Given the description of an element on the screen output the (x, y) to click on. 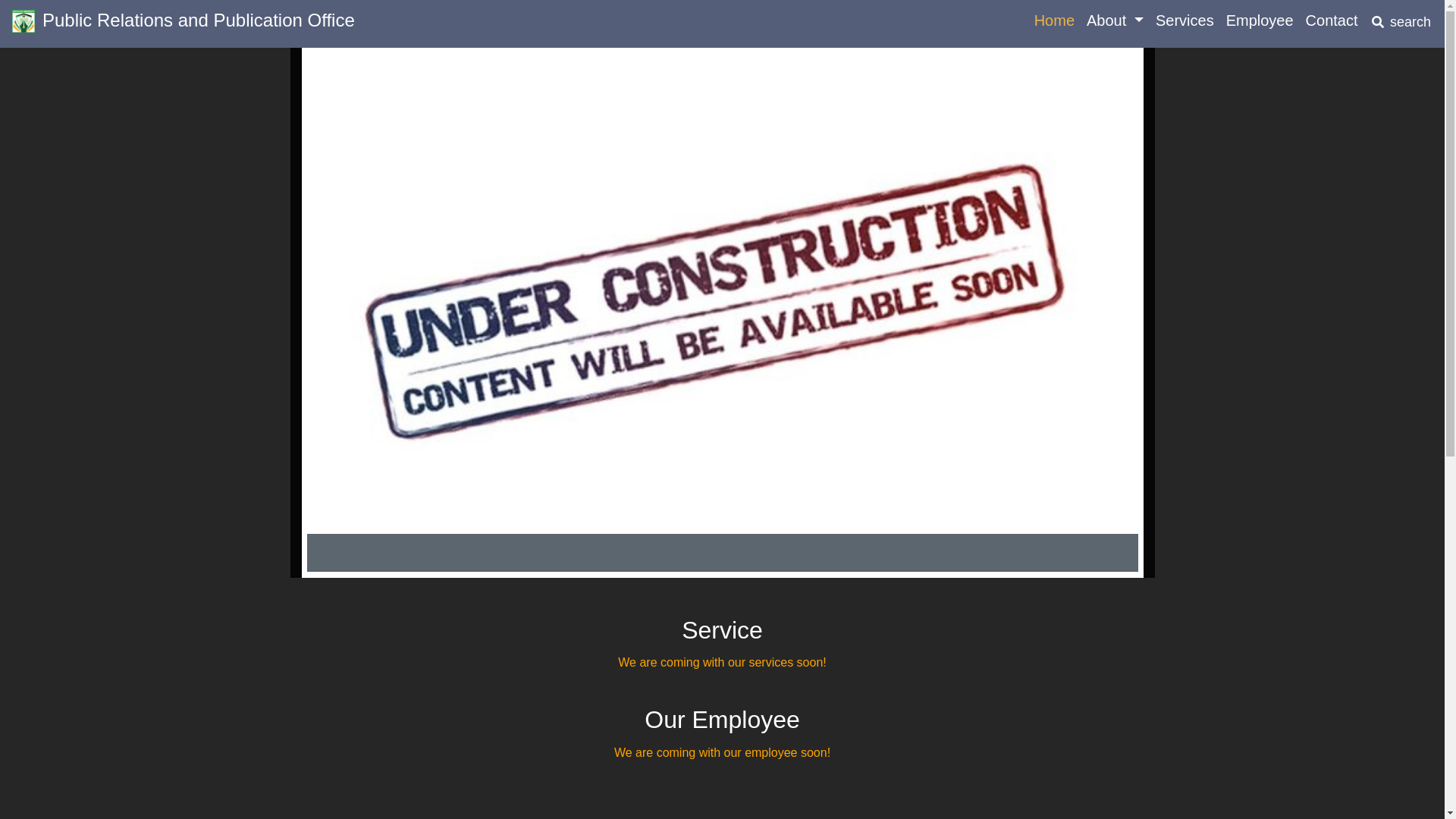
Employee Element type: text (1259, 20)
Public Relations and Publication Office Element type: text (183, 23)
search Element type: text (1401, 23)
Services Element type: text (1184, 20)
About Element type: text (1114, 20)
Home
(current) Element type: text (1054, 20)
Contact Element type: text (1331, 20)
